Given the description of an element on the screen output the (x, y) to click on. 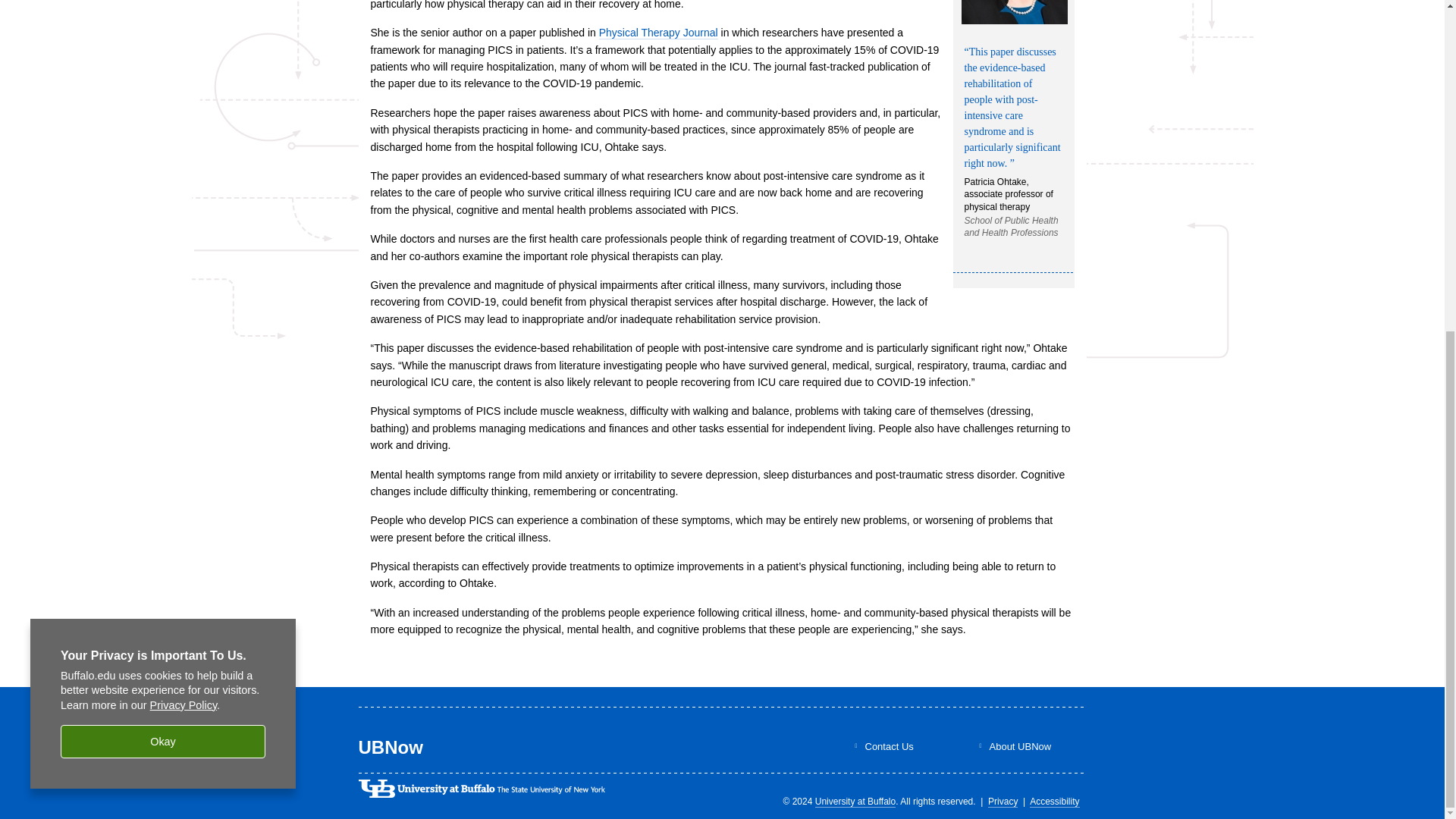
Accessibility (1053, 801)
University at Buffalo (855, 801)
Physical Therapy Journal (657, 32)
Contact Us (888, 746)
Privacy (1002, 801)
About UBNow (1019, 746)
Privacy Policy (182, 154)
Okay (162, 191)
